Given the description of an element on the screen output the (x, y) to click on. 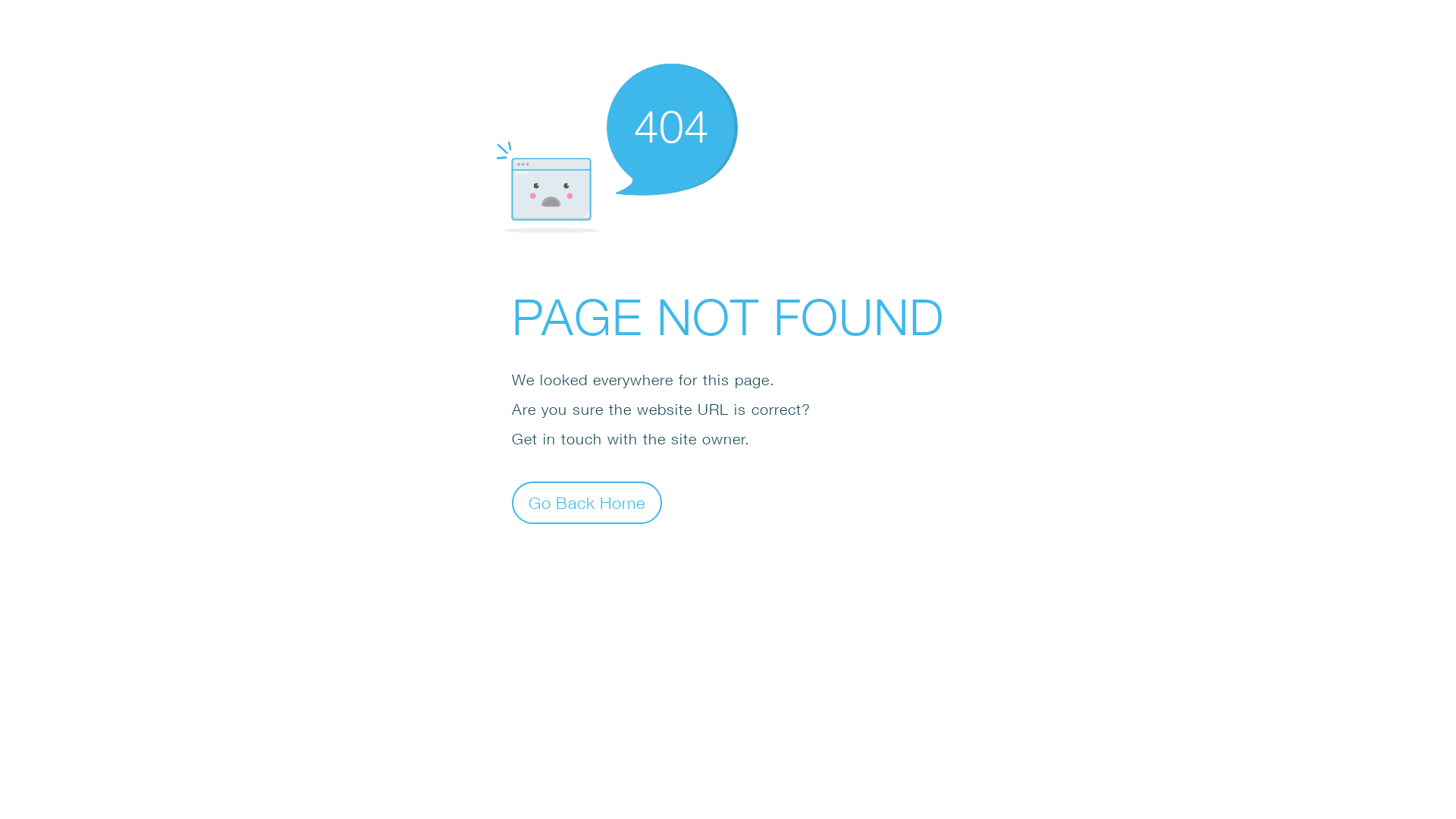
Go Back Home Element type: text (586, 502)
